Given the description of an element on the screen output the (x, y) to click on. 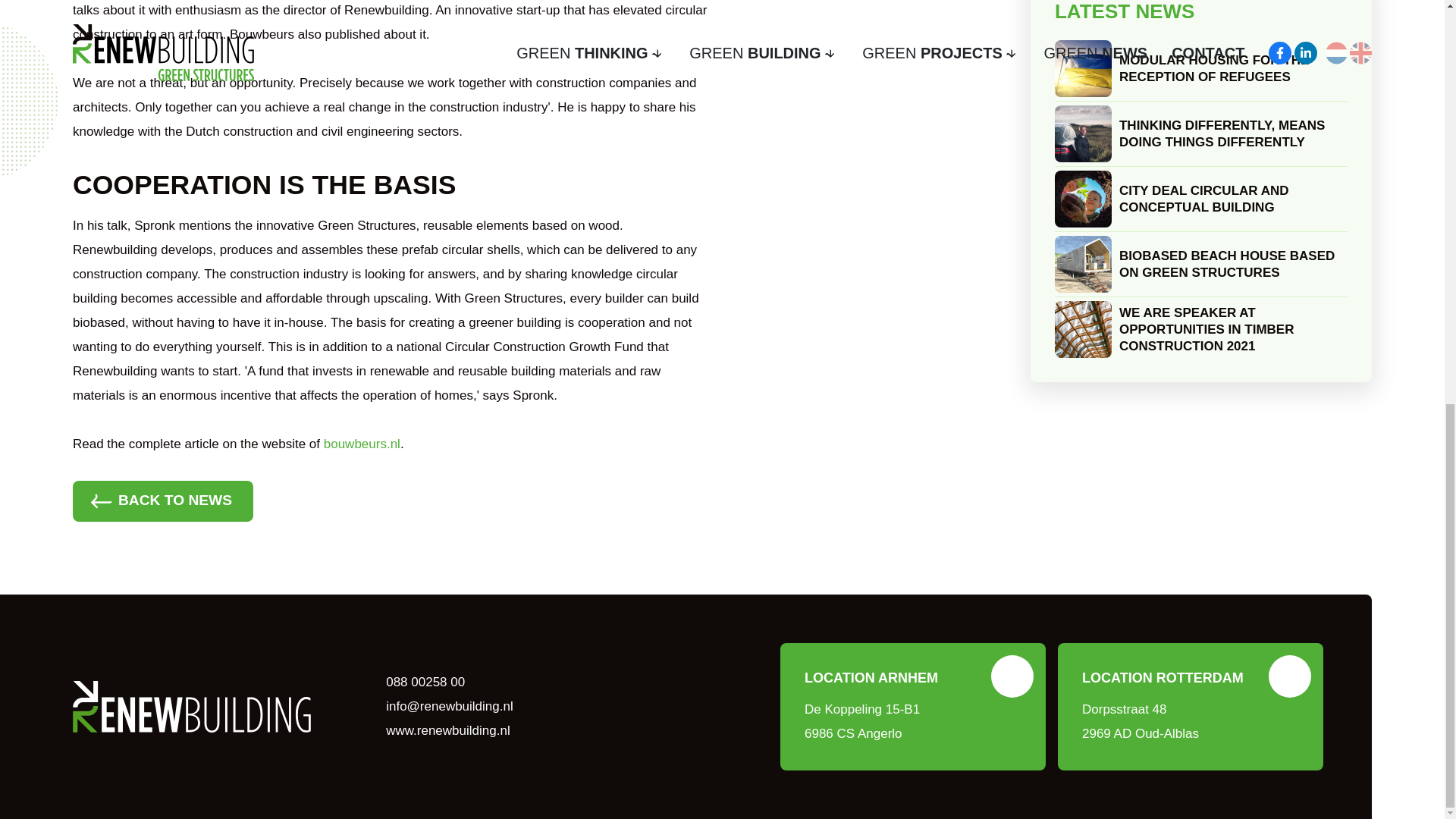
bouwbeurs.nl (361, 443)
088 00258 00 (424, 681)
WE ARE SPEAKER AT OPPORTUNITIES IN TIMBER CONSTRUCTION 2021 (1201, 327)
THINKING DIFFERENTLY, MEANS DOING THINGS DIFFERENTLY (1201, 134)
MODULAR HOUSING FOR THE RECEPTION OF REFUGEES (1201, 68)
www.renewbuilding.nl (447, 730)
BIOBASED BEACH HOUSE BASED ON GREEN STRUCTURES (912, 706)
LATEST NEWS (1201, 264)
CITY DEAL CIRCULAR AND CONCEPTUAL BUILDING (1190, 706)
BACK TO NEWS (1201, 12)
